Given the description of an element on the screen output the (x, y) to click on. 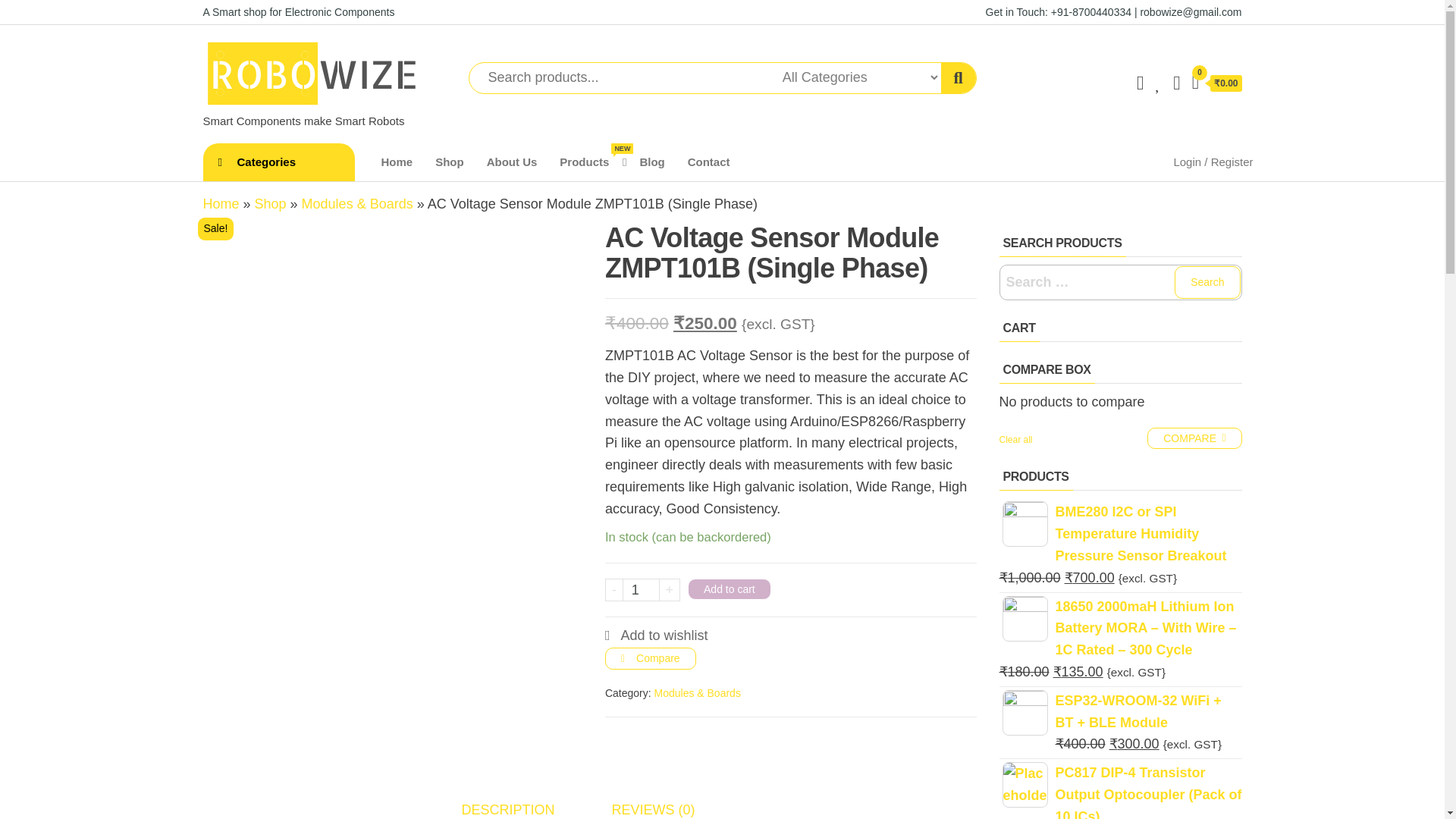
Categories (279, 161)
Contact (709, 161)
Shop (449, 161)
Home (221, 203)
About Us (512, 161)
RoboWize (252, 121)
Shop (449, 161)
Search (1207, 282)
Home (587, 161)
